Given the description of an element on the screen output the (x, y) to click on. 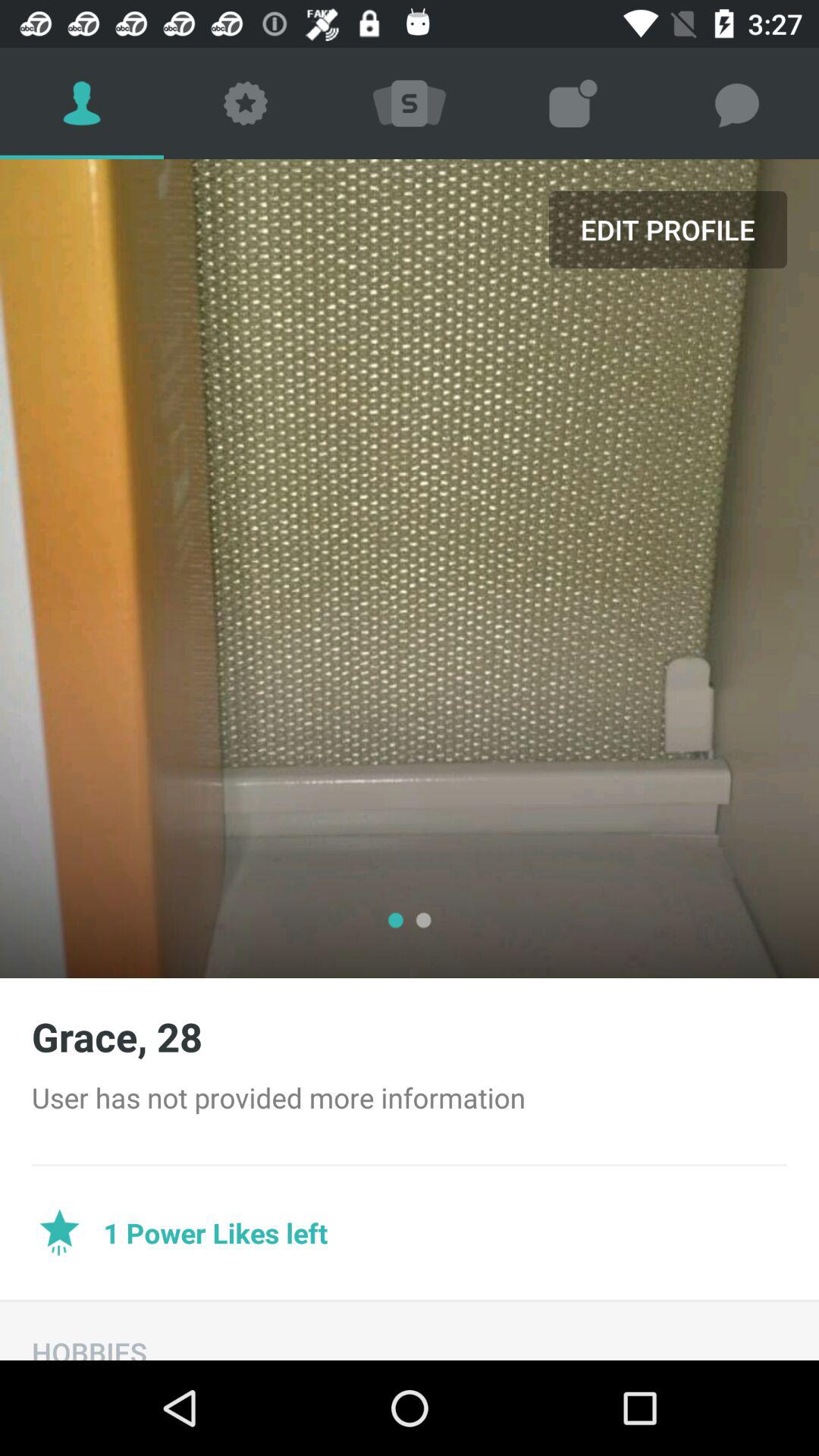
open the edit profile icon (667, 229)
